Given the description of an element on the screen output the (x, y) to click on. 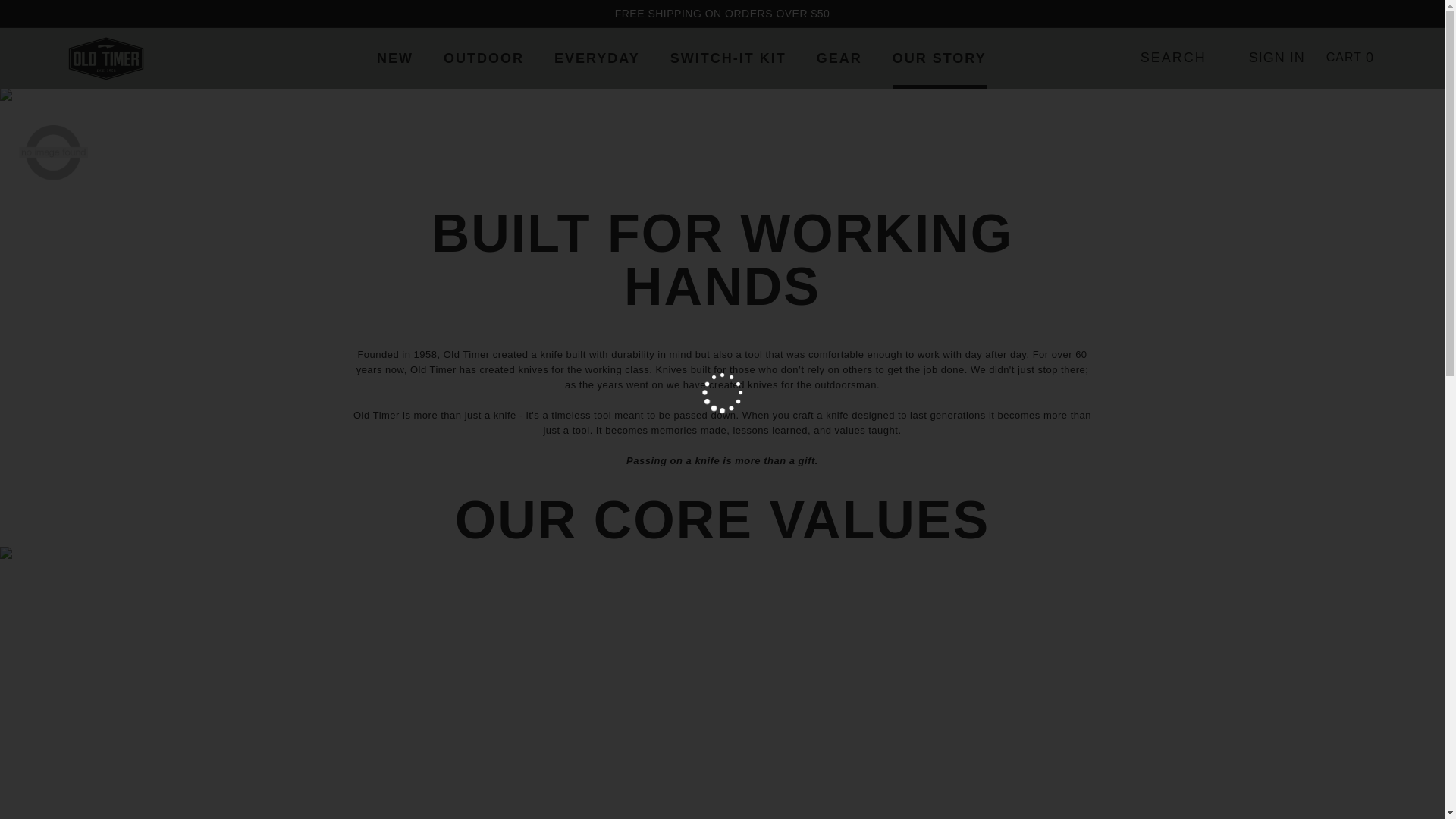
OUTDOOR (484, 57)
History of Old Timer (53, 147)
SWITCH-IT KIT (727, 57)
OUR STORY (939, 57)
SIGN IN (1276, 57)
EVERYDAY (597, 57)
Old Timer (106, 58)
SEARCH (1180, 57)
